Given the description of an element on the screen output the (x, y) to click on. 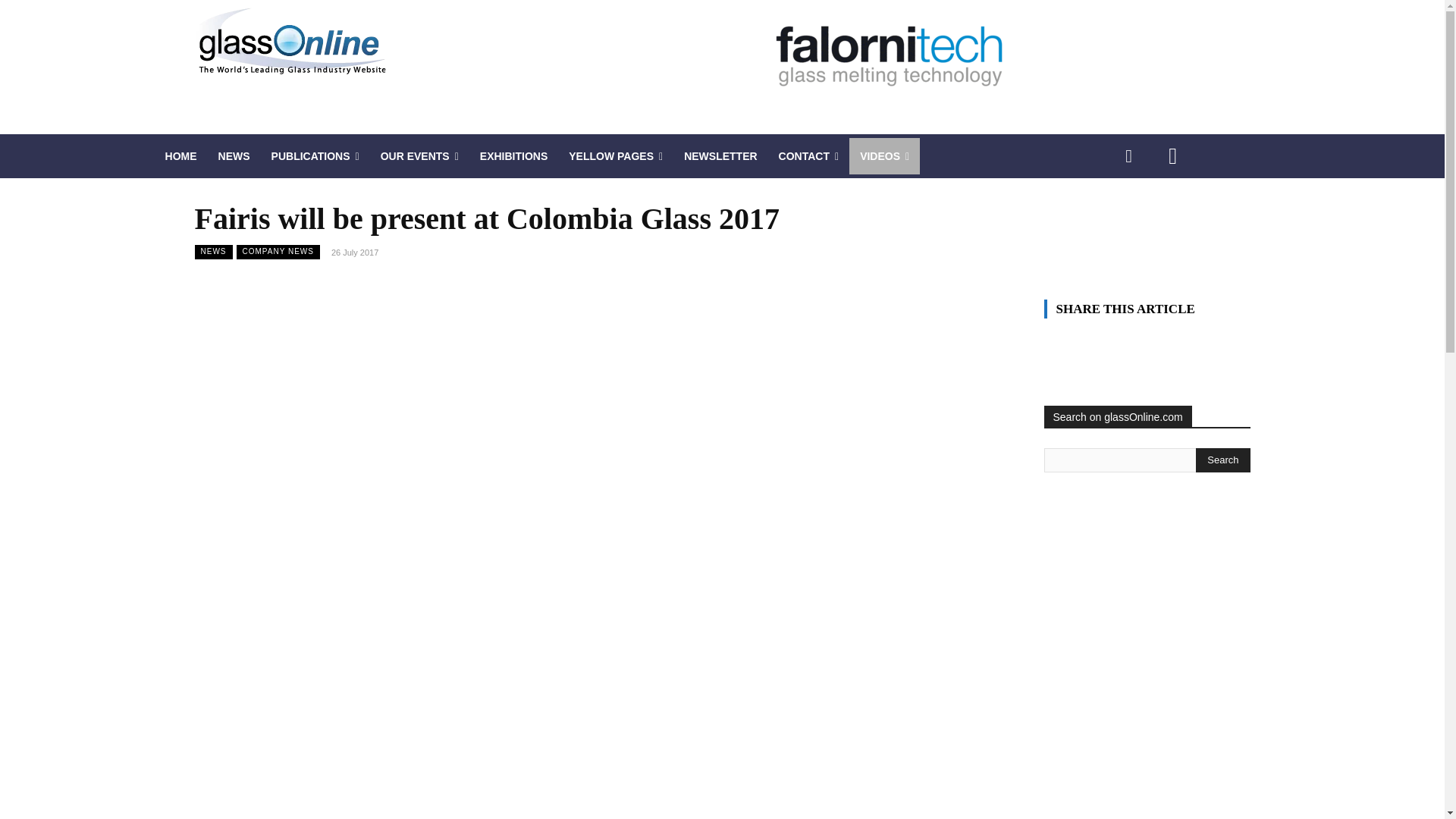
Search (1222, 459)
Youtube (1172, 156)
Linkedin (1128, 156)
